Given the description of an element on the screen output the (x, y) to click on. 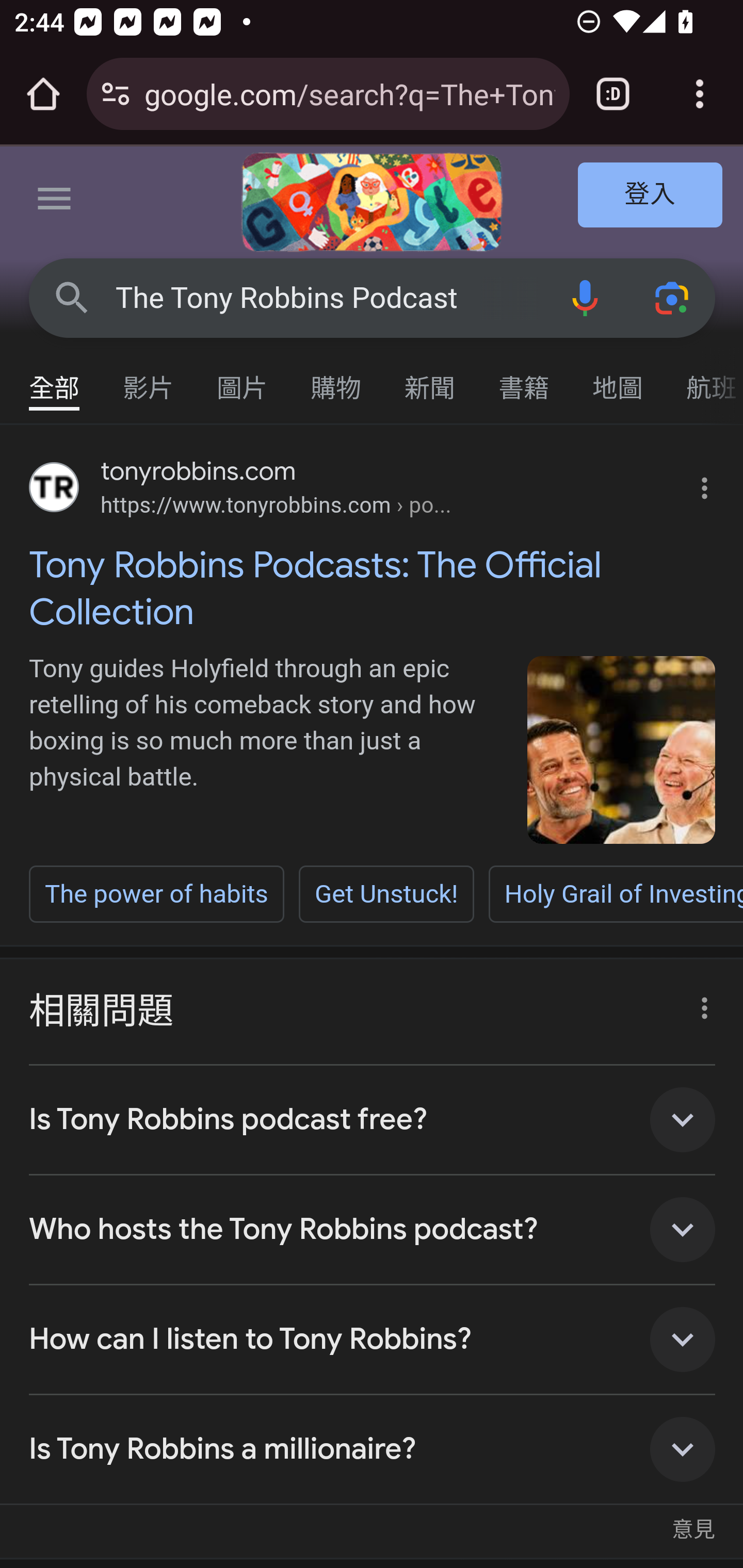
Open the home page (43, 93)
Connection is secure (115, 93)
Switch or close tabs (612, 93)
Customize and control Google Chrome (699, 93)
